Given the description of an element on the screen output the (x, y) to click on. 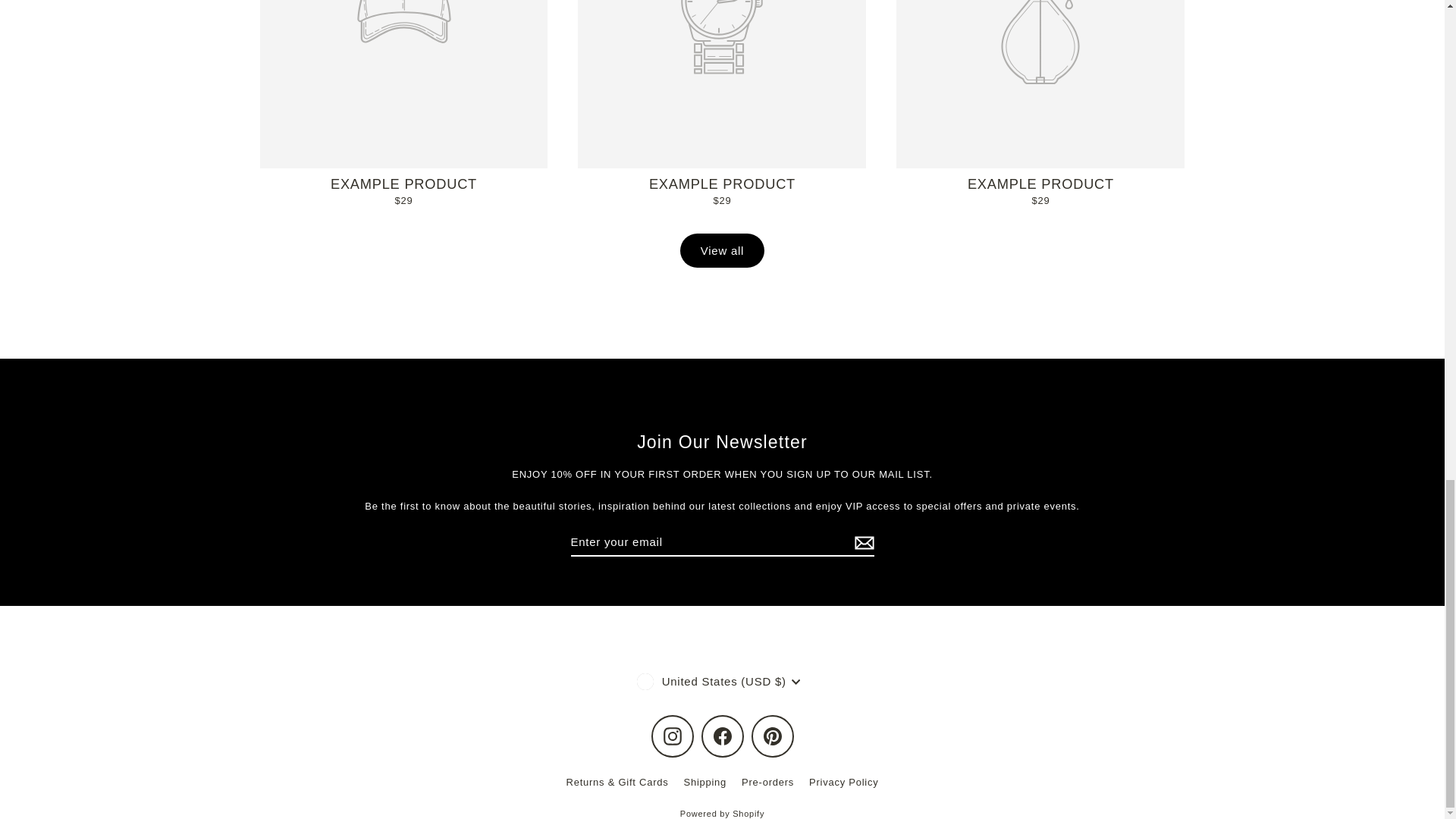
Carolina Benoit on Instagram (671, 735)
Carolina Benoit on Pinterest (772, 735)
Carolina Benoit on Facebook (721, 735)
